Given the description of an element on the screen output the (x, y) to click on. 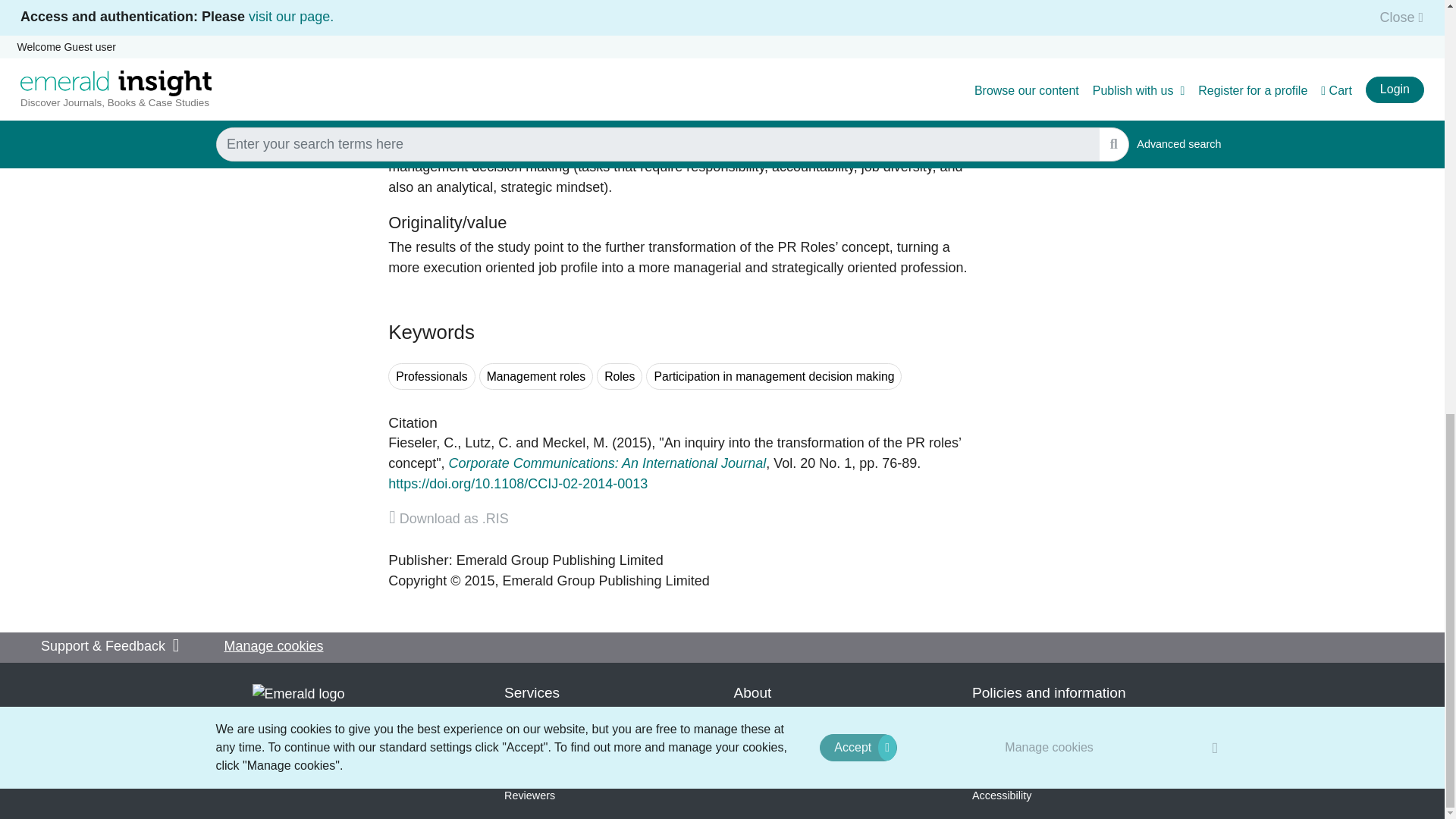
Search for keyword Professionals (432, 376)
Search for keyword Management roles (535, 376)
Miriam Meckel (574, 442)
Christian Fieseler (422, 442)
Christoph Lutz (488, 442)
Search for keyword Roles (619, 376)
